Given the description of an element on the screen output the (x, y) to click on. 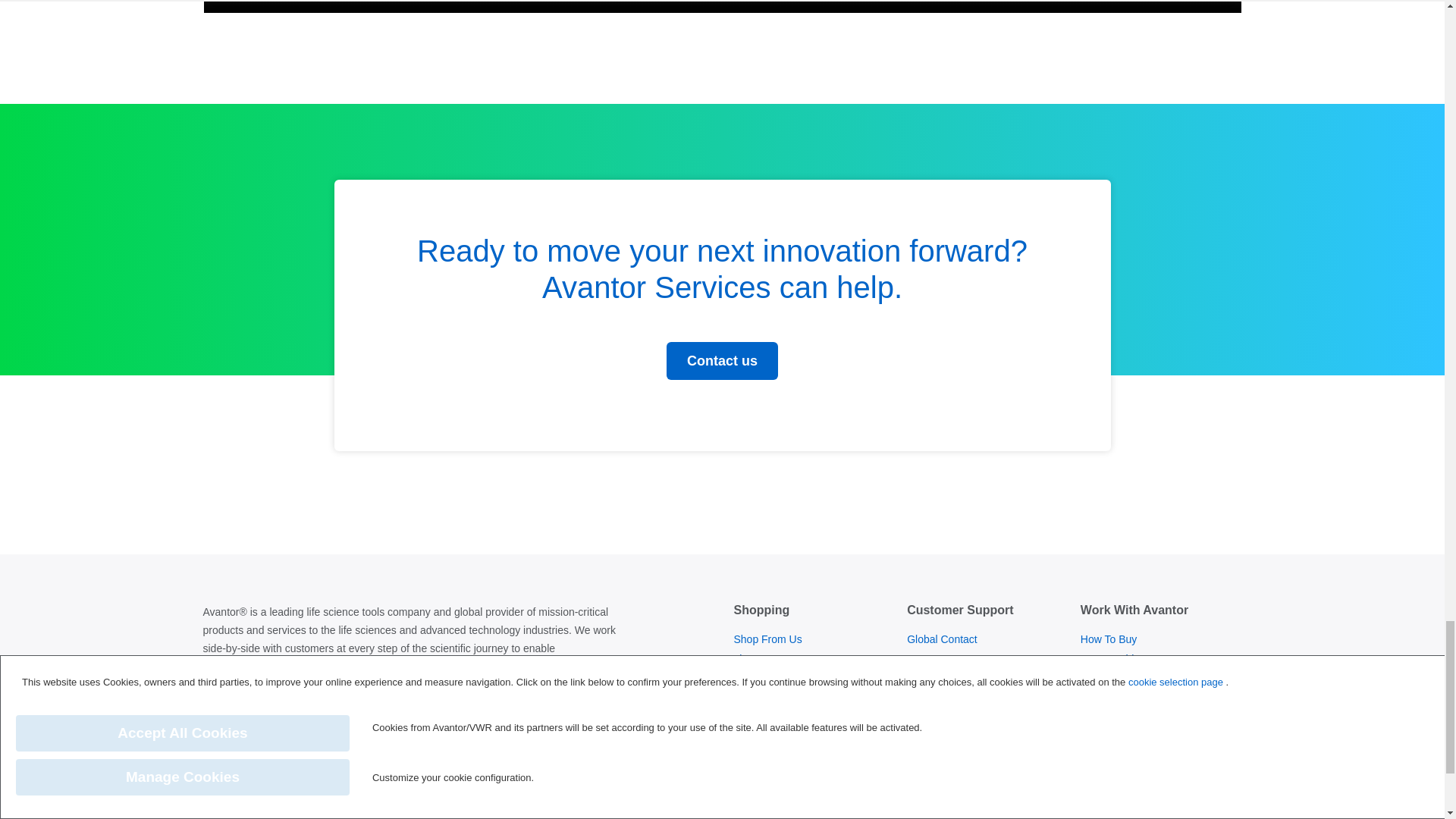
How To Sell (1108, 678)
Financials (756, 790)
How To Buy (1108, 639)
LinkedIn (221, 721)
Find a Channel Partner (1135, 698)
News (746, 770)
Contact us (721, 361)
Shop From Us (767, 639)
Literature (755, 659)
Global Contact (941, 639)
